Given the description of an element on the screen output the (x, y) to click on. 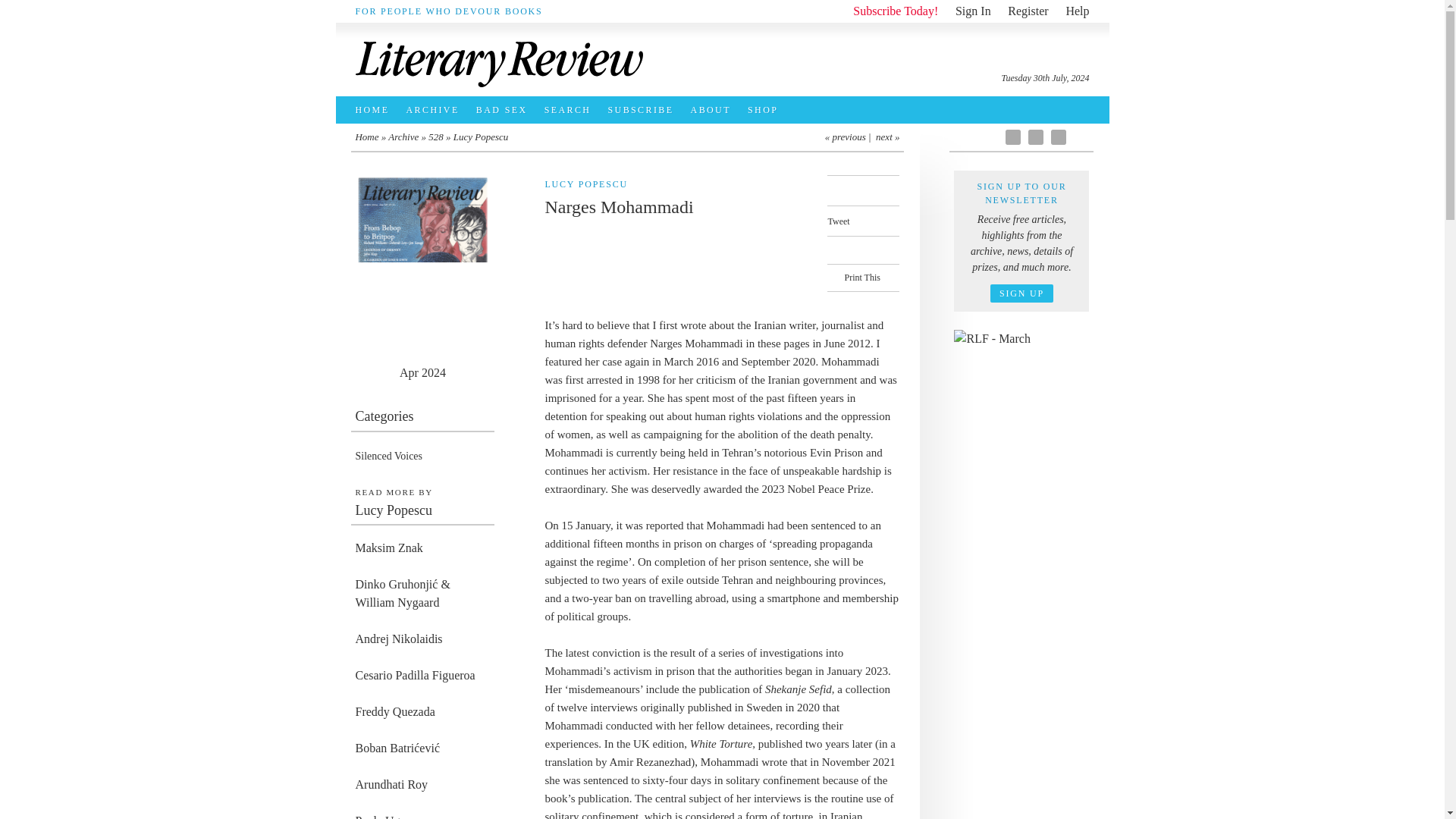
Categories (422, 418)
Permanent Link to Arundhati Roy (422, 784)
previous (847, 136)
Silenced Voices (388, 455)
Permanent Link to Maksim Znak (422, 547)
SHOP (766, 109)
SUBSCRIBE (644, 109)
Andrej Nikolaidis (422, 638)
528 (436, 136)
Maksim Znak (422, 547)
ARCHIVE (436, 109)
next (884, 136)
Archive (403, 136)
HOME (375, 109)
BAD SEX (505, 109)
